Given the description of an element on the screen output the (x, y) to click on. 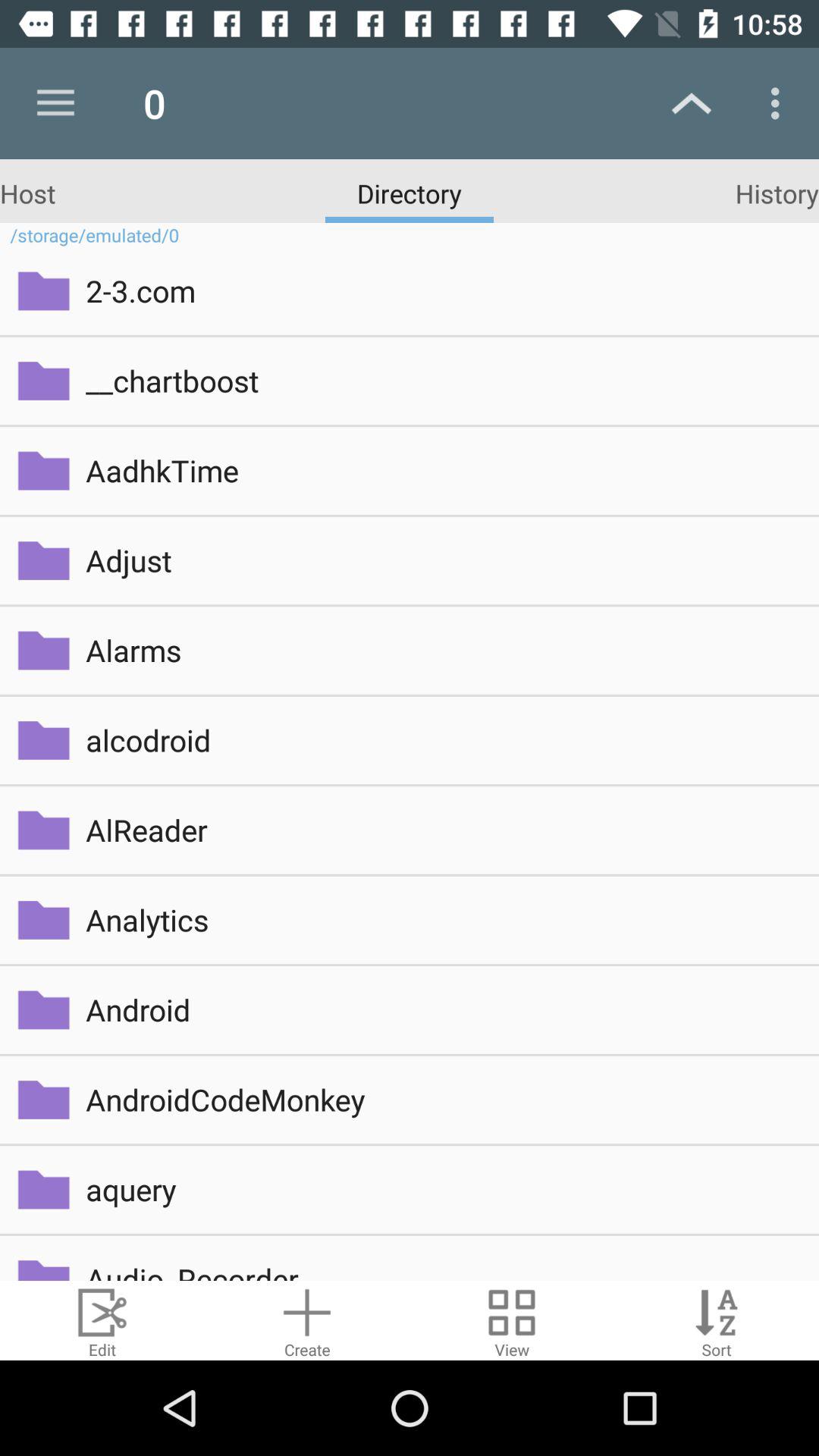
turn off aadhktime item (441, 470)
